Given the description of an element on the screen output the (x, y) to click on. 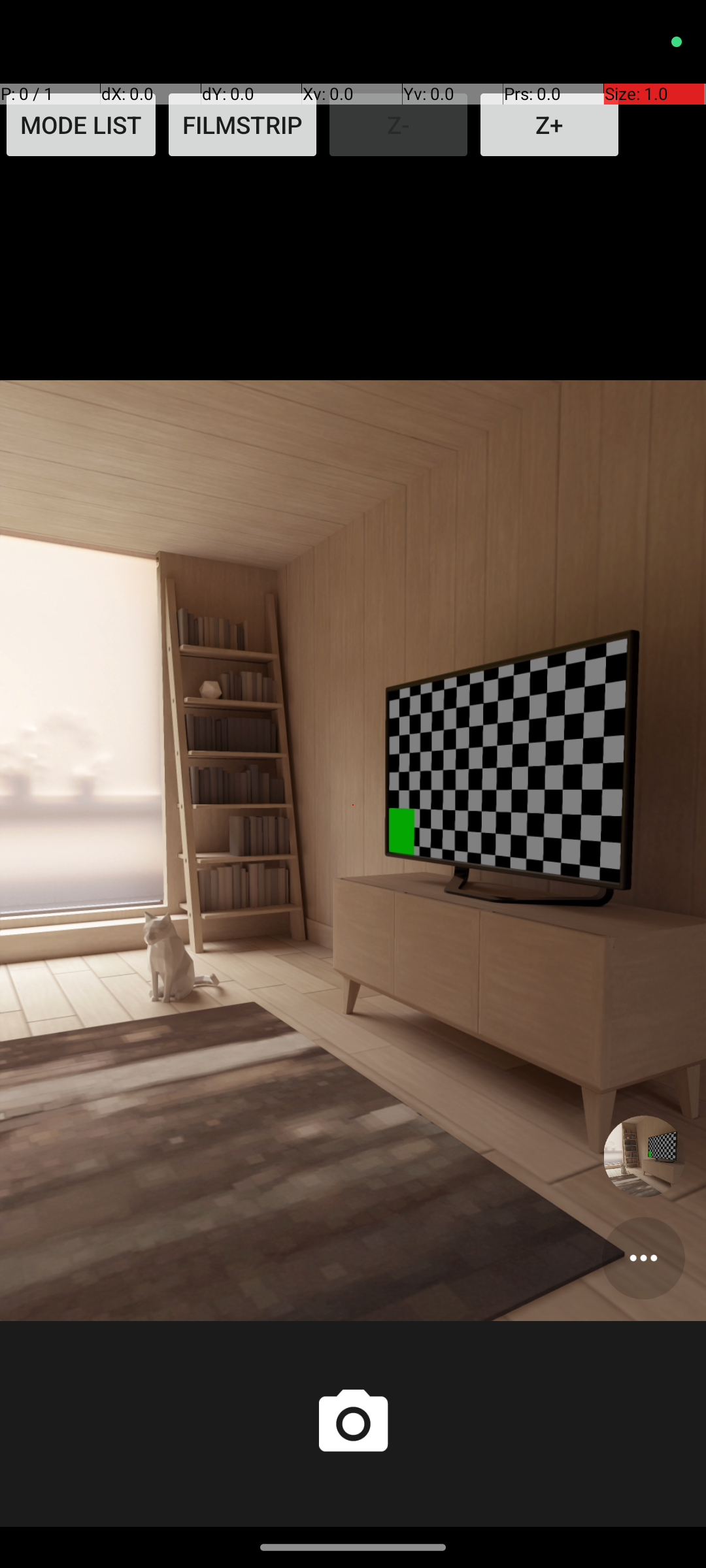
Options Element type: android.widget.LinearLayout (643, 1258)
Shutter Element type: android.widget.ImageView (353, 1423)
MODE LIST Element type: android.widget.Button (81, 124)
FILMSTRIP Element type: android.widget.Button (242, 124)
Z- Element type: android.widget.Button (397, 124)
Z+ Element type: android.widget.Button (548, 124)
